Given the description of an element on the screen output the (x, y) to click on. 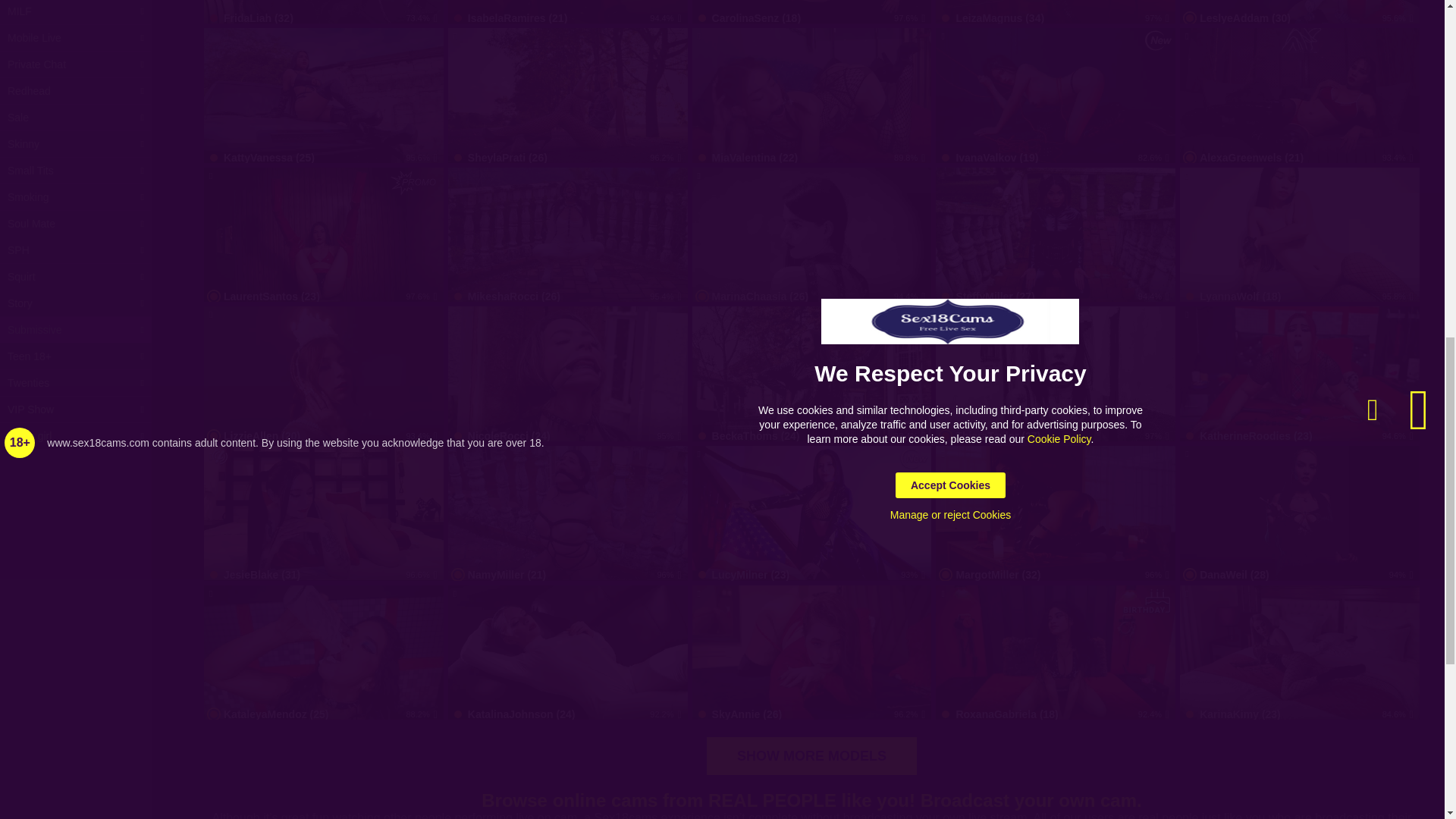
VideoCall (454, 175)
VideoCall (454, 36)
VideoCall (454, 314)
